Given the description of an element on the screen output the (x, y) to click on. 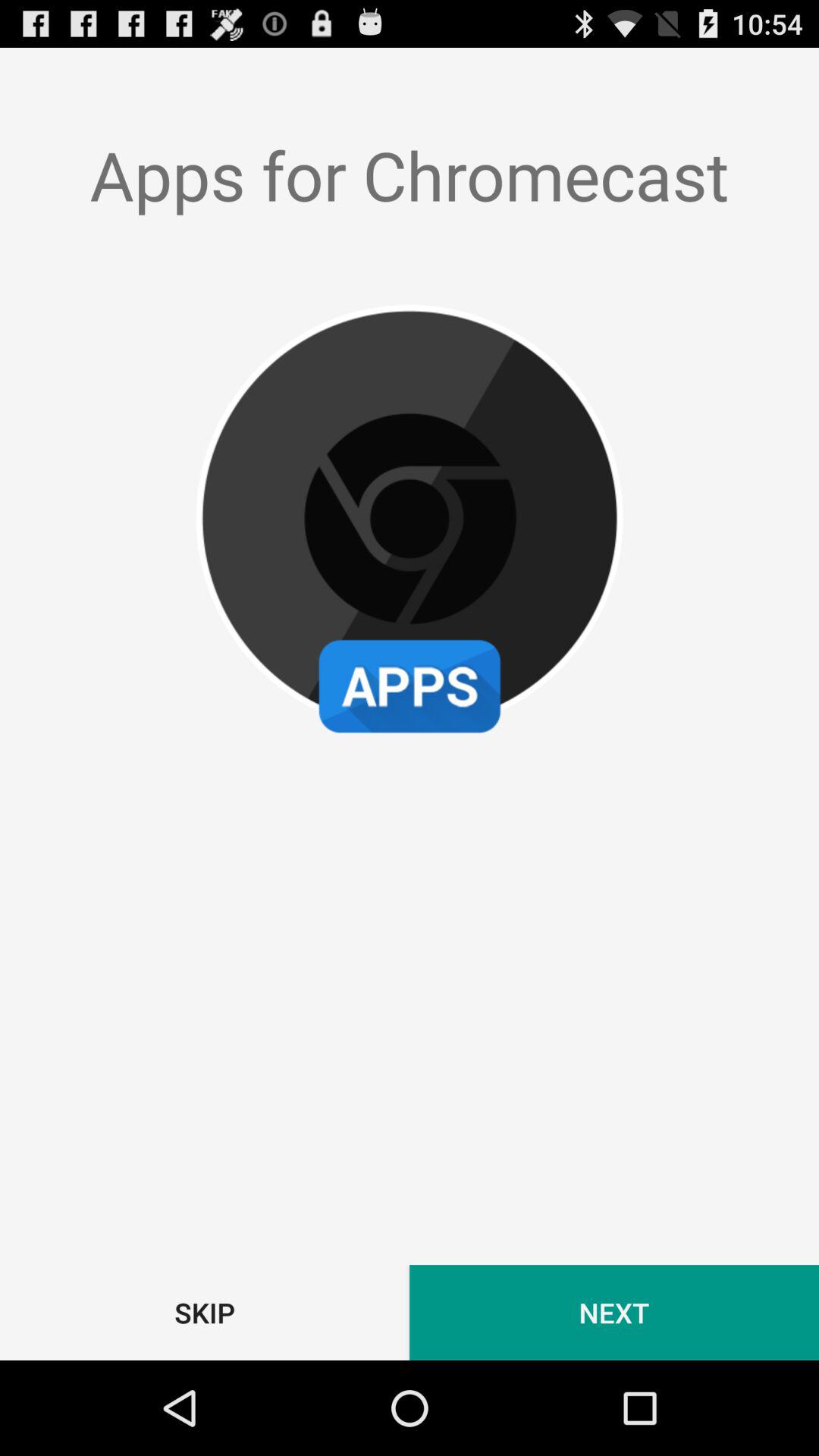
flip to the skip item (204, 1312)
